Given the description of an element on the screen output the (x, y) to click on. 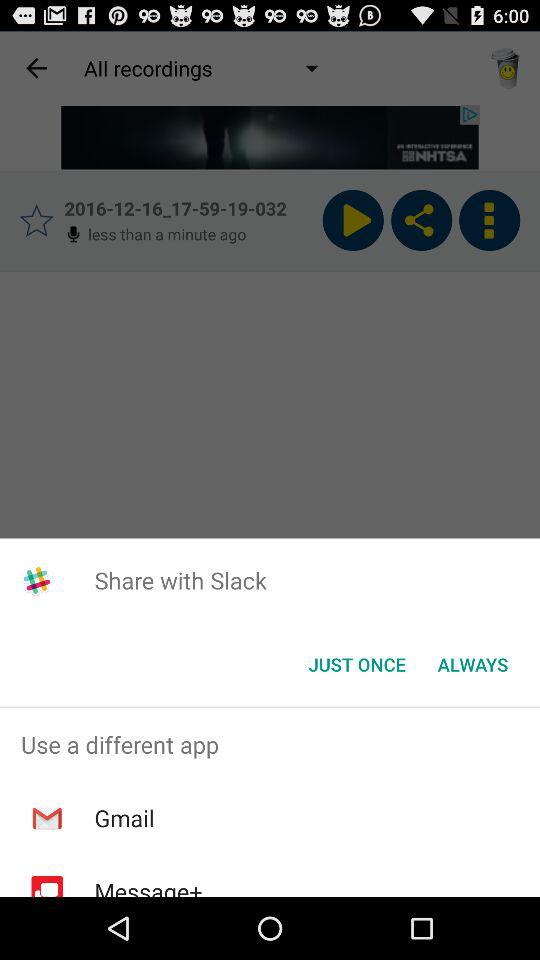
launch app below the gmail (148, 885)
